Given the description of an element on the screen output the (x, y) to click on. 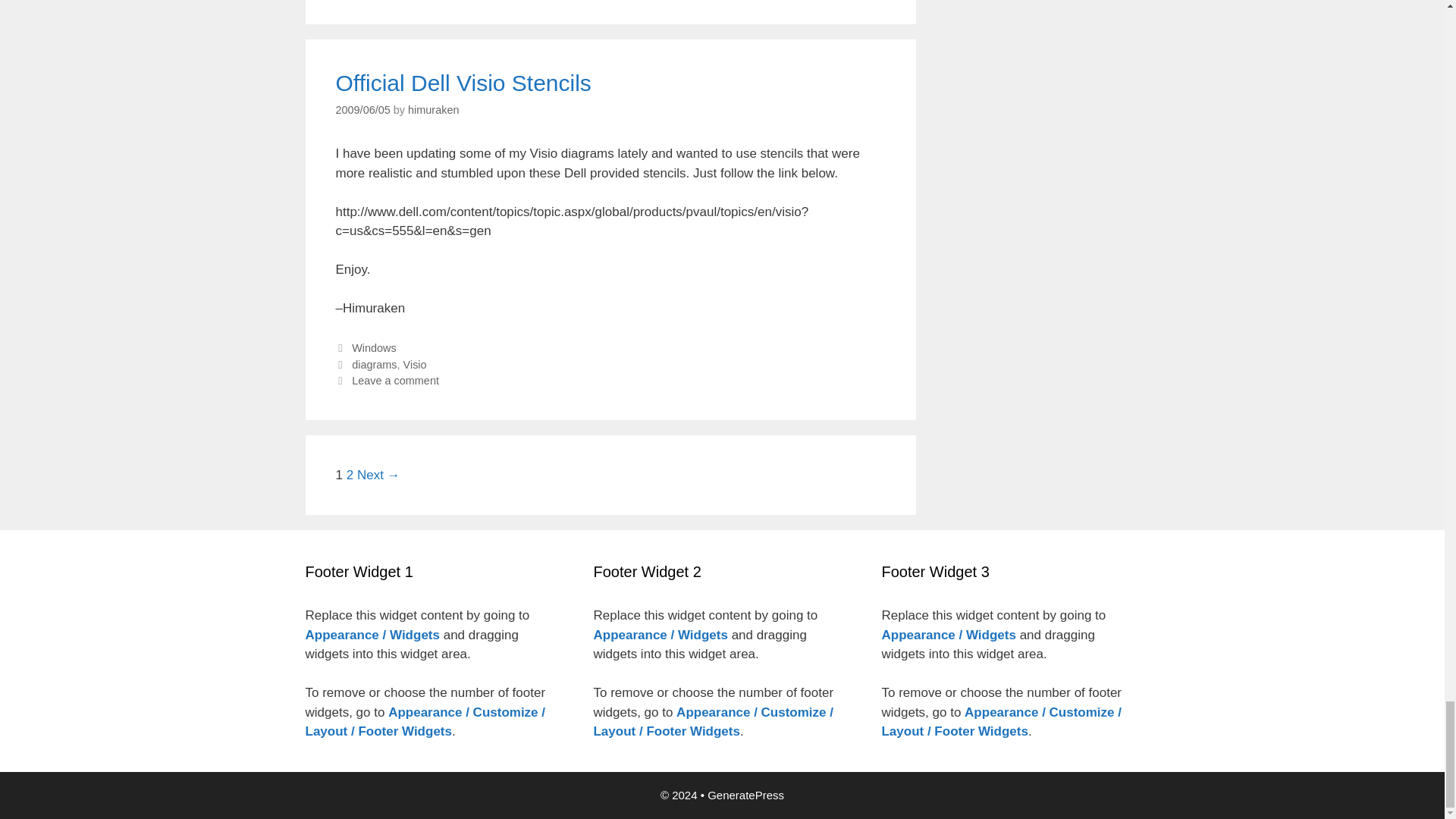
View all posts by himuraken (432, 110)
9:40 pm (362, 110)
